Given the description of an element on the screen output the (x, y) to click on. 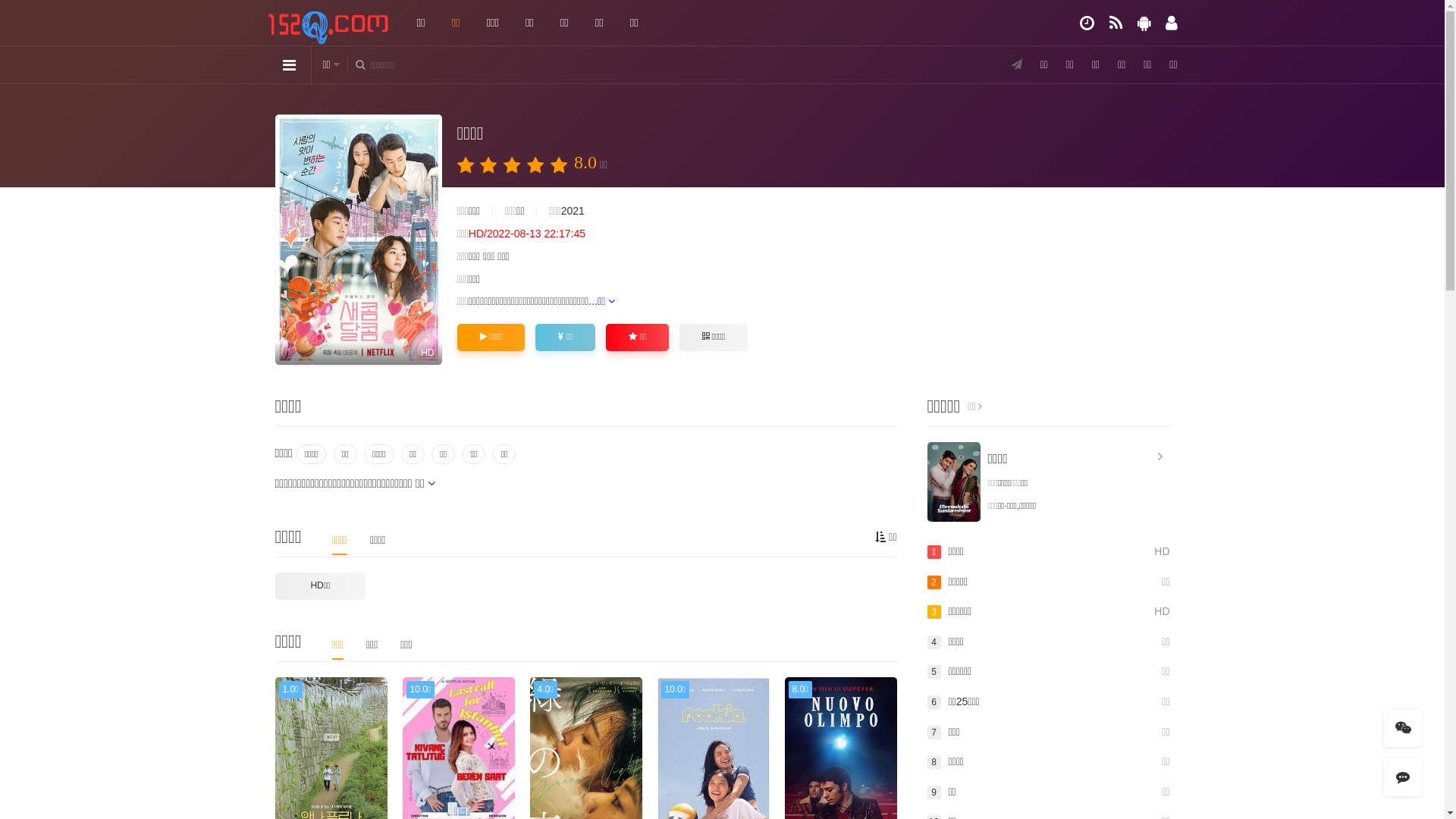
HD Element type: text (357, 239)
2021 Element type: text (572, 210)
